Given the description of an element on the screen output the (x, y) to click on. 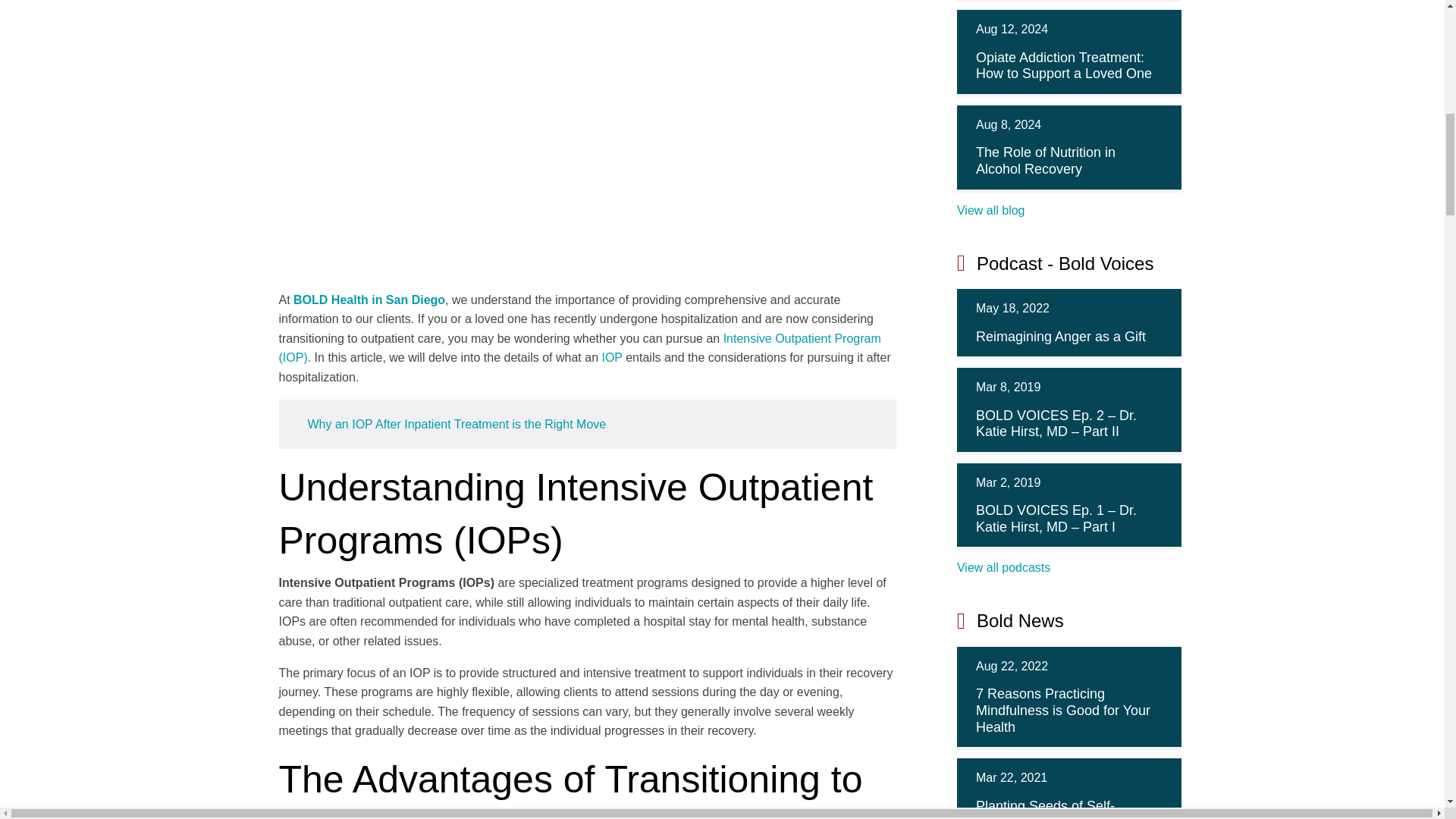
Planting Seeds of Self-Compassion (1045, 808)
Opiate Addiction Treatment: How to Support a Loved One (1063, 65)
7 Reasons Practicing Mindfulness is Good for Your Health (1062, 709)
Reimagining Anger as a Gift (1060, 336)
The Role of Nutrition in Alcohol Recovery (1045, 160)
